Given the description of an element on the screen output the (x, y) to click on. 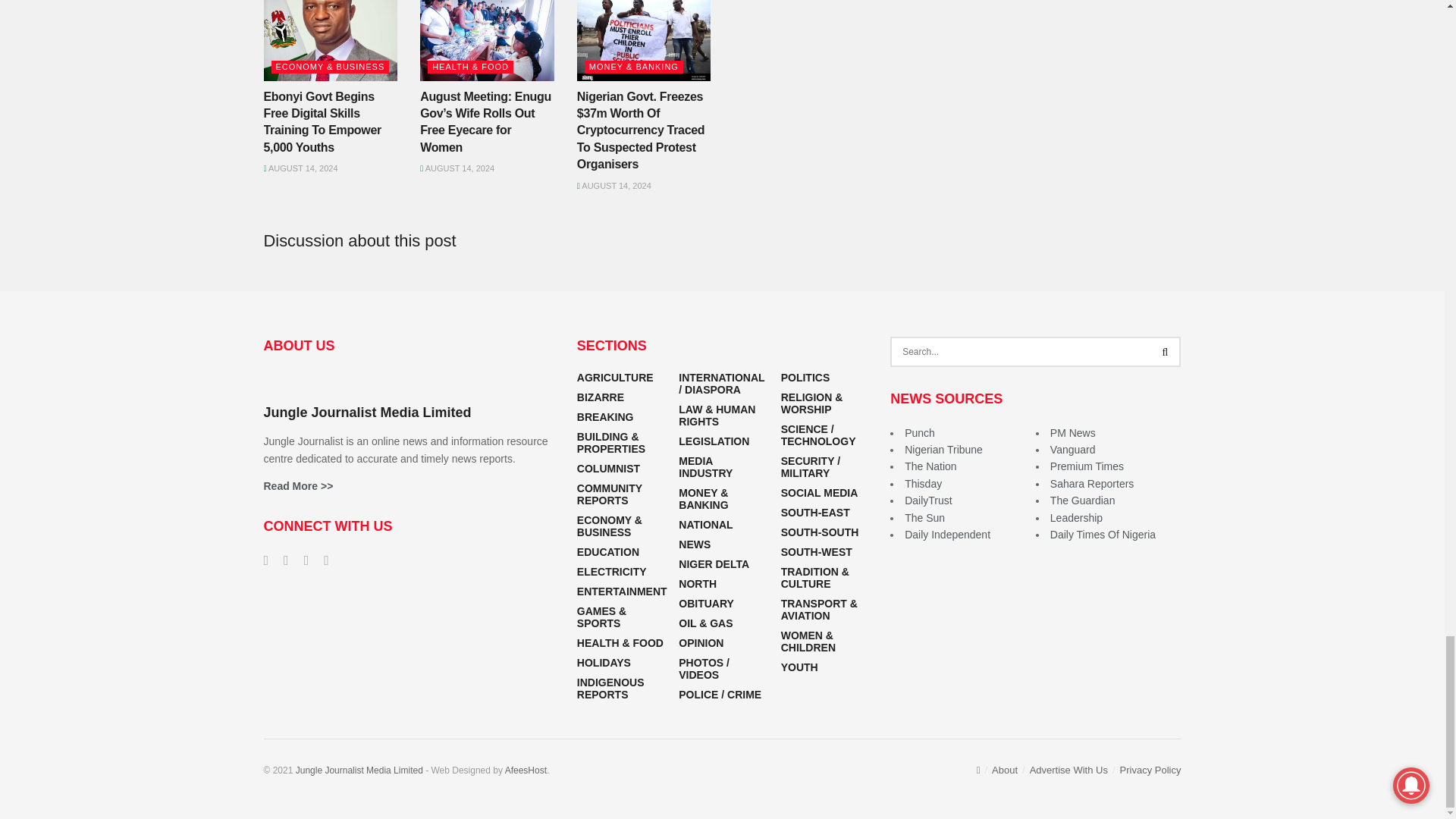
Jungle Journalist Media Limited (359, 769)
About Jungle Journalist Media Limited (298, 485)
Web Hosting (526, 769)
